Given the description of an element on the screen output the (x, y) to click on. 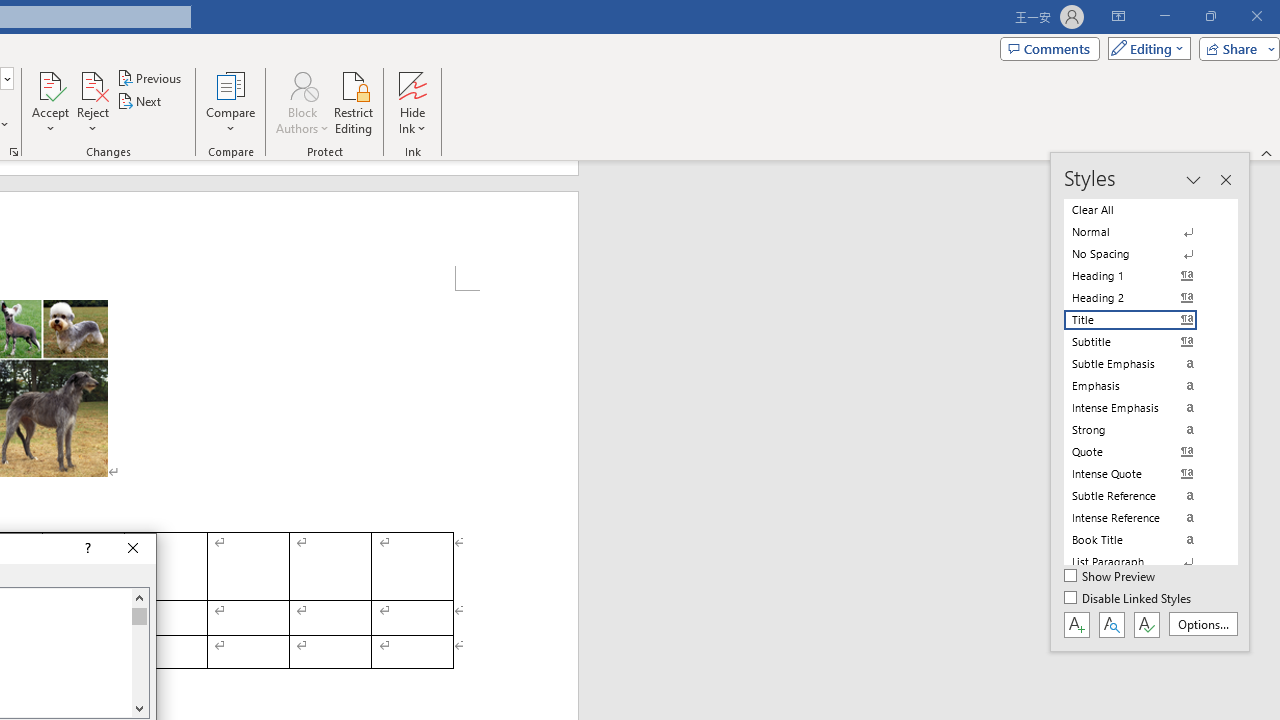
Intense Emphasis (1142, 407)
Block Authors (302, 84)
Emphasis (1142, 385)
Line up (139, 597)
Clear All (1142, 209)
Options... (1202, 623)
Hide Ink (412, 84)
Intense Quote (1142, 473)
